Given the description of an element on the screen output the (x, y) to click on. 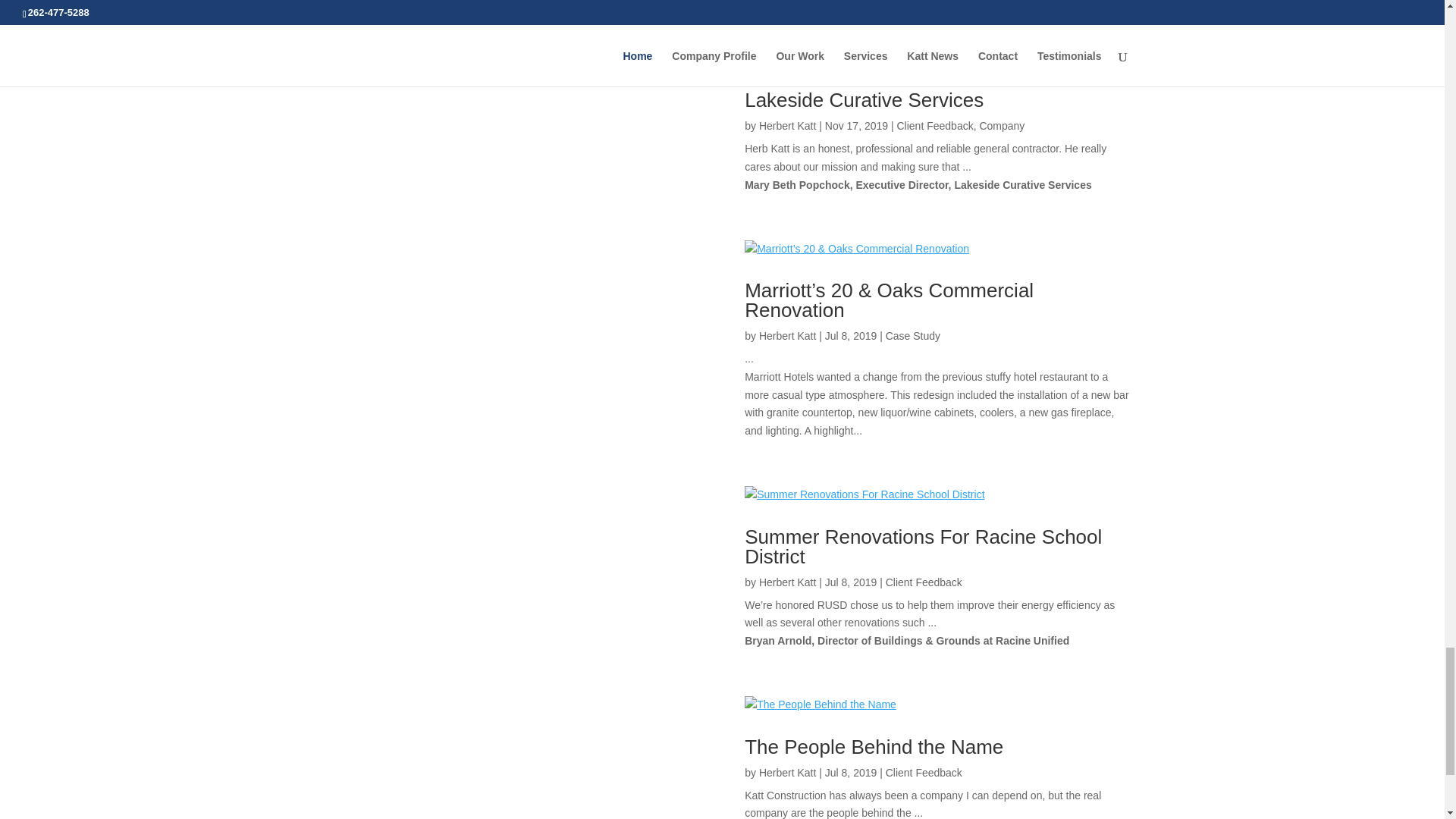
Posts by Herbert Katt (786, 125)
Posts by Herbert Katt (786, 582)
Posts by Herbert Katt (786, 772)
Posts by Herbert Katt (786, 336)
